Given the description of an element on the screen output the (x, y) to click on. 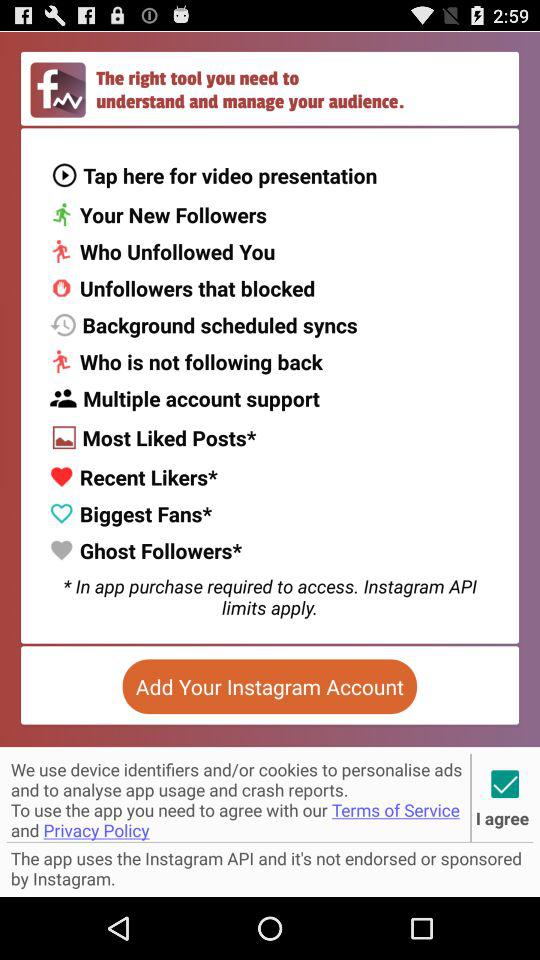
scroll to the we use device icon (238, 797)
